Given the description of an element on the screen output the (x, y) to click on. 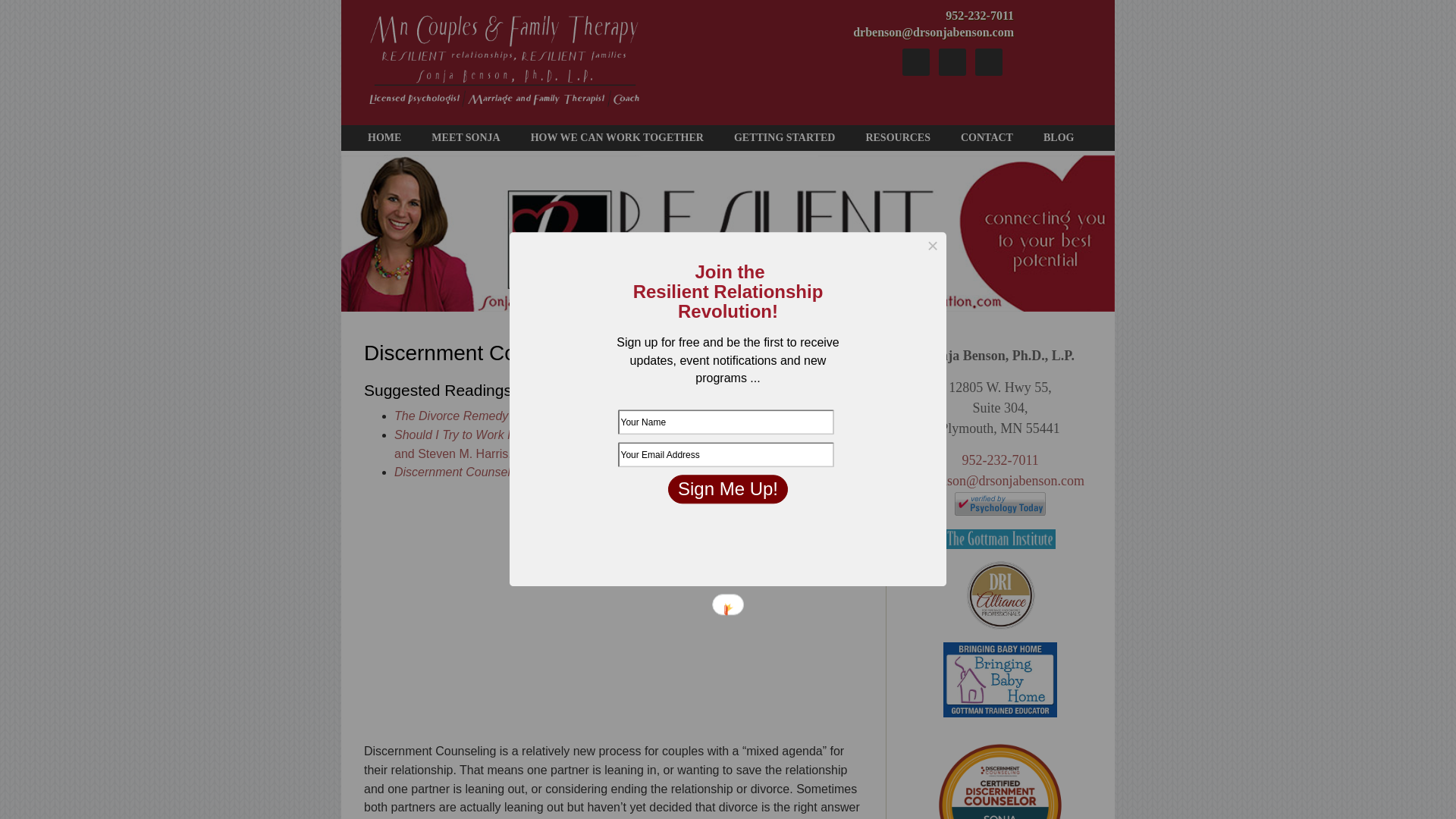
Your Name (724, 421)
MEET SONJA (465, 137)
Your Email Address (724, 454)
RESOURCES (897, 137)
952-232-7011 (999, 459)
The Divorce Remedy by Michele Weiner Davis (519, 415)
952-232-7011 (978, 15)
Facebook (916, 62)
HOME (384, 137)
Twitter (988, 61)
Discernment Counseling JMFT (477, 472)
GETTING STARTED (784, 137)
Facebook (915, 61)
Sign Me Up! (727, 489)
